Given the description of an element on the screen output the (x, y) to click on. 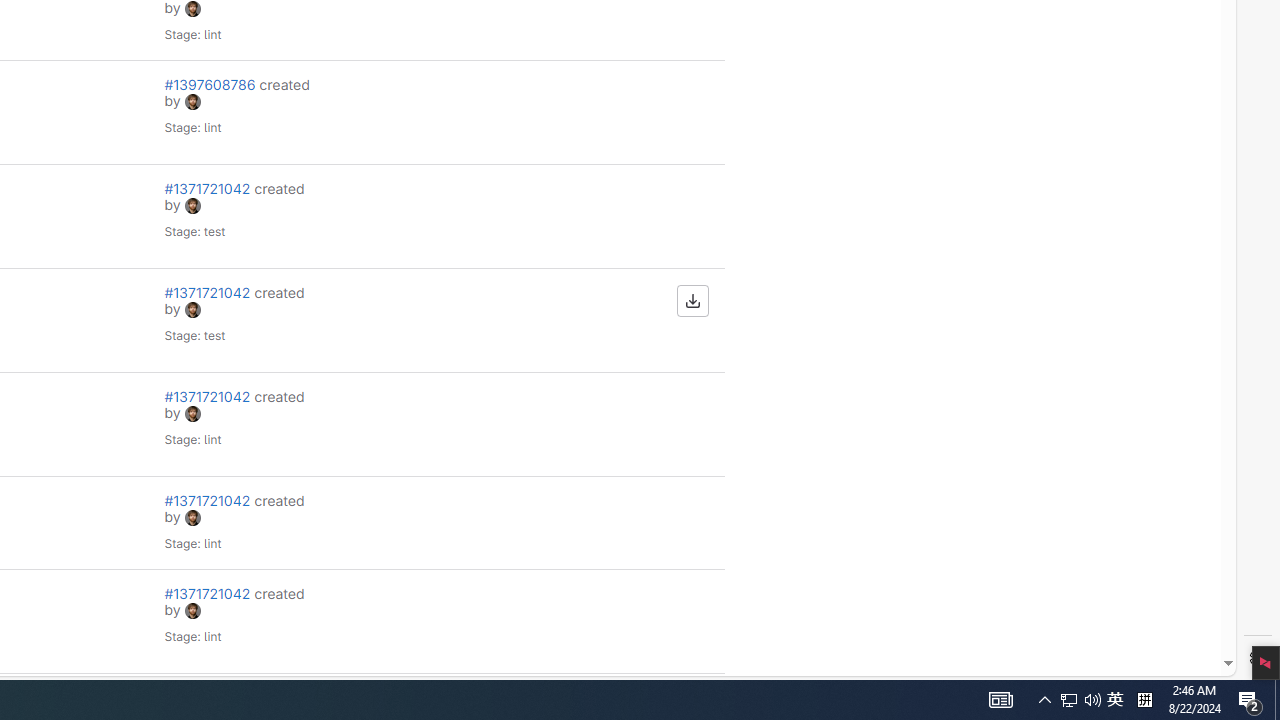
Class: !gl-hidden lg:!gl-table-cell (436, 620)
avatar (192, 611)
#1397608786  (211, 84)
Class: gl-text-right (628, 620)
#1371721042 created by avatar Stage: test (244, 319)
#1371721042 created by avatar Stage: lint (244, 620)
#1397608786 created by avatar Stage: lint (244, 111)
#1371721042  (208, 592)
Download artifacts (692, 300)
avatar (192, 610)
